Given the description of an element on the screen output the (x, y) to click on. 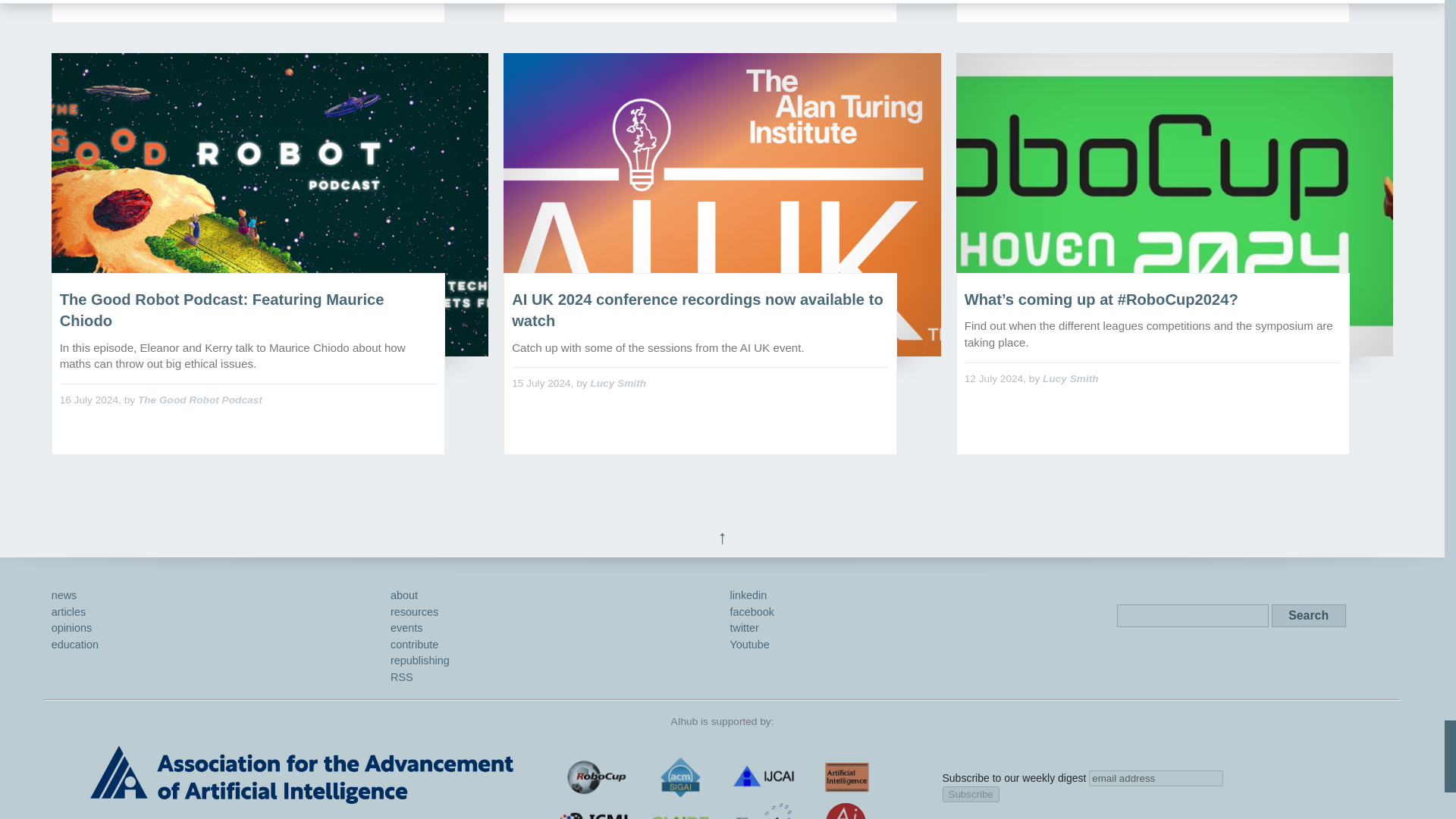
Subscribe (970, 794)
Search (1308, 615)
Search (1308, 615)
